Given the description of an element on the screen output the (x, y) to click on. 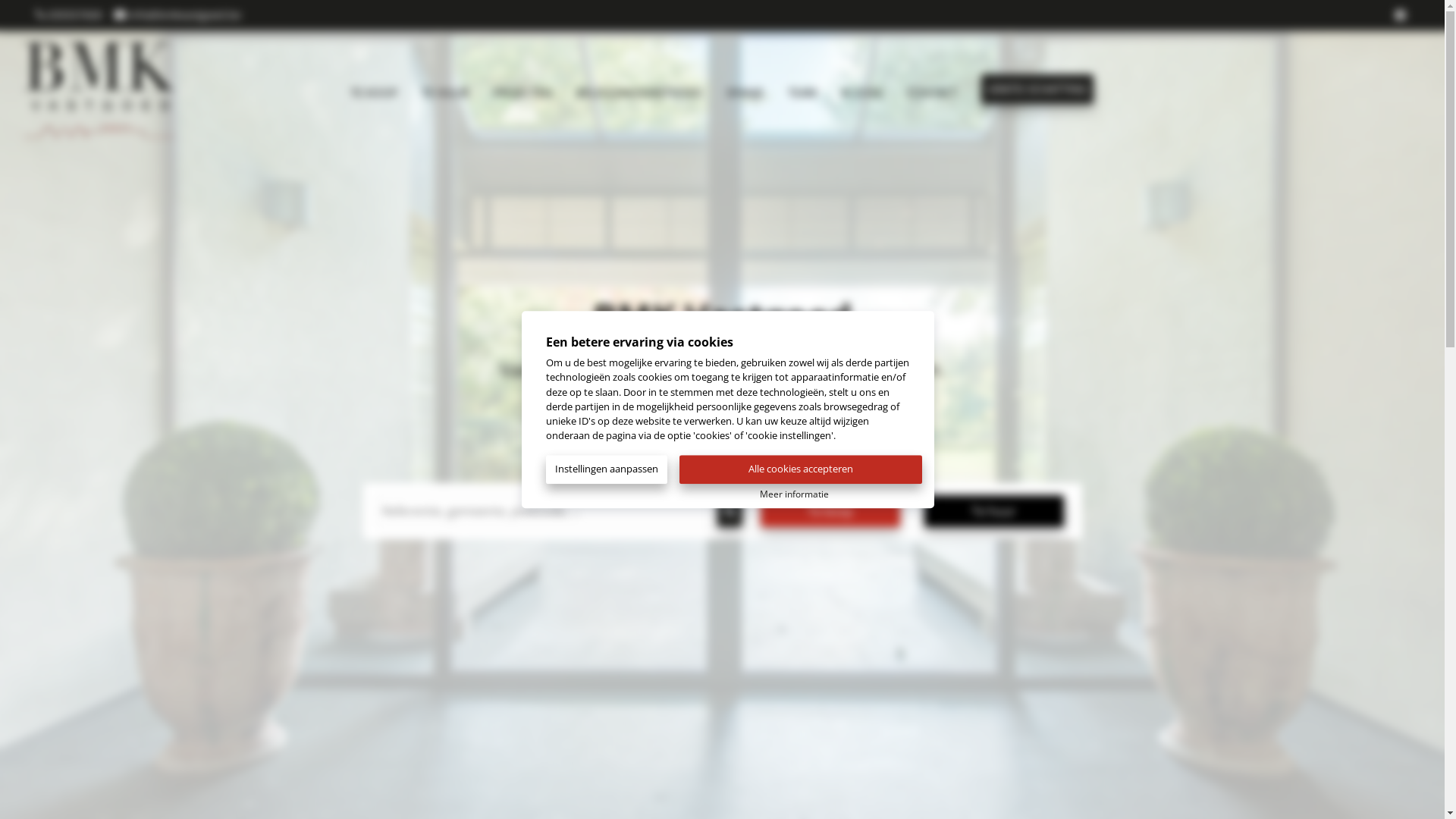
Hou me op de hoogte Element type: text (721, 427)
Te koop Element type: text (829, 511)
CONTACT Element type: text (931, 89)
 info@bmkvastgoed.be Element type: text (177, 14)
 035557600 Element type: text (69, 14)
Home Element type: hover (140, 89)
Instellingen aanpassen Element type: text (606, 469)
  Element type: text (1402, 15)
Te huur Element type: text (993, 511)
Meer informatie Element type: text (793, 492)
IK ZOEK Element type: text (861, 89)
BELEGGINGSVASTGOED Element type: text (639, 89)
TE HUUR Element type: text (444, 89)
Te huur Element type: text (993, 510)
TEAM Element type: text (801, 89)
GRATIS SCHATTING Element type: text (1037, 87)
PROJECTEN Element type: text (522, 89)
Alle cookies accepteren Element type: text (800, 469)
TE KOOP Element type: text (373, 89)
GRATIS SCHATTING Element type: text (1037, 88)
Te koop Element type: text (829, 510)
Instellingen aanpassen Element type: text (612, 468)
SPANJE Element type: text (744, 89)
